Given the description of an element on the screen output the (x, y) to click on. 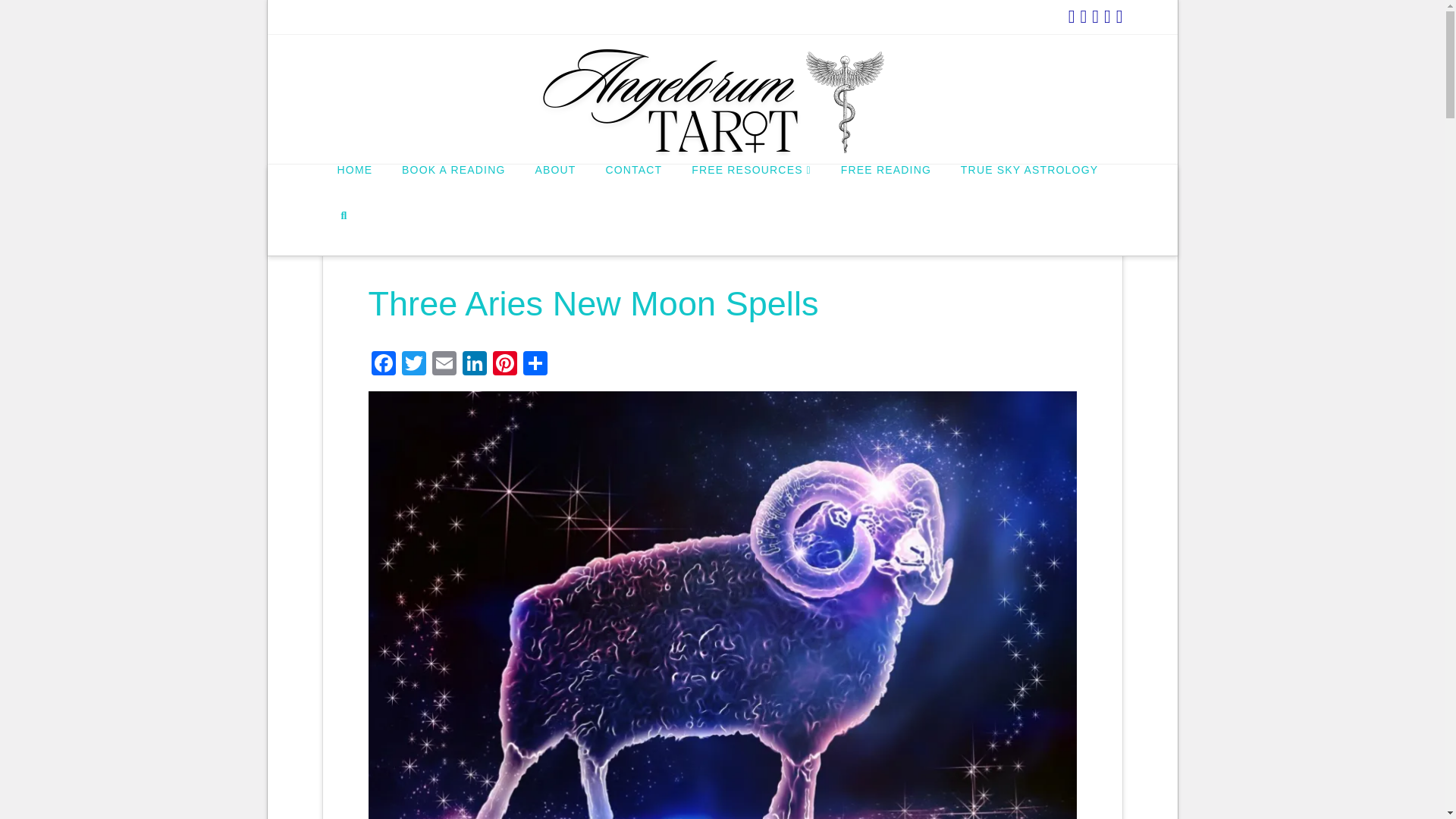
Twitter (413, 365)
Instagram (1095, 16)
CONTACT (633, 186)
Pinterest (1106, 16)
LinkedIn (474, 365)
YouTube (1083, 16)
LinkedIn (474, 365)
ABOUT (554, 186)
Facebook (383, 365)
RSS (1119, 16)
Pinterest (504, 365)
Facebook (383, 365)
BOOK A READING (453, 186)
LinkedIn (1071, 16)
HOME (354, 186)
